Given the description of an element on the screen output the (x, y) to click on. 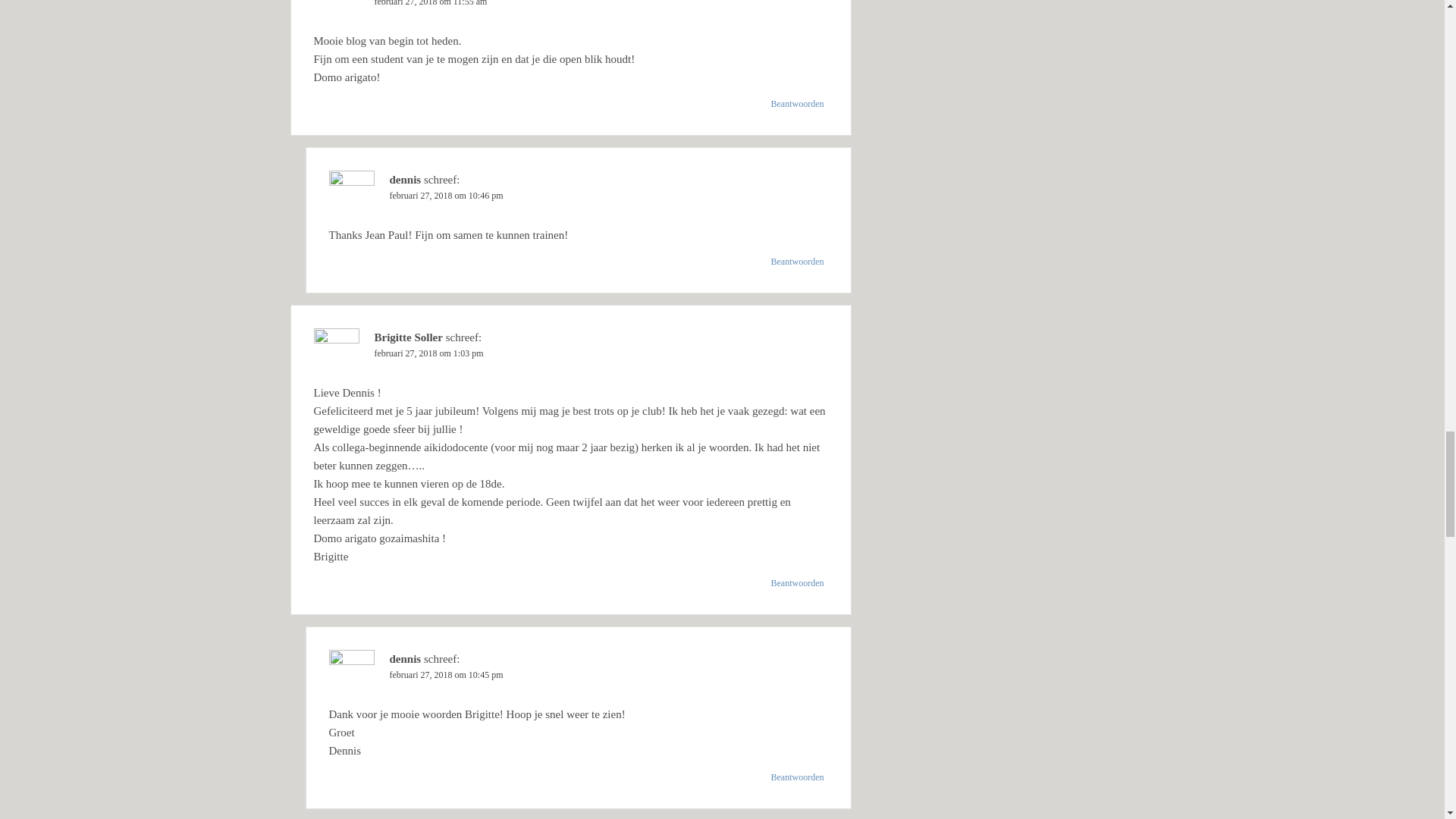
februari 27, 2018 om 1:03 pm (428, 353)
februari 27, 2018 om 10:46 pm (446, 195)
Beantwoorden (797, 583)
Beantwoorden (797, 777)
februari 27, 2018 om 10:45 pm (446, 674)
Beantwoorden (797, 104)
februari 27, 2018 om 11:55 am (430, 3)
Beantwoorden (797, 261)
